Given the description of an element on the screen output the (x, y) to click on. 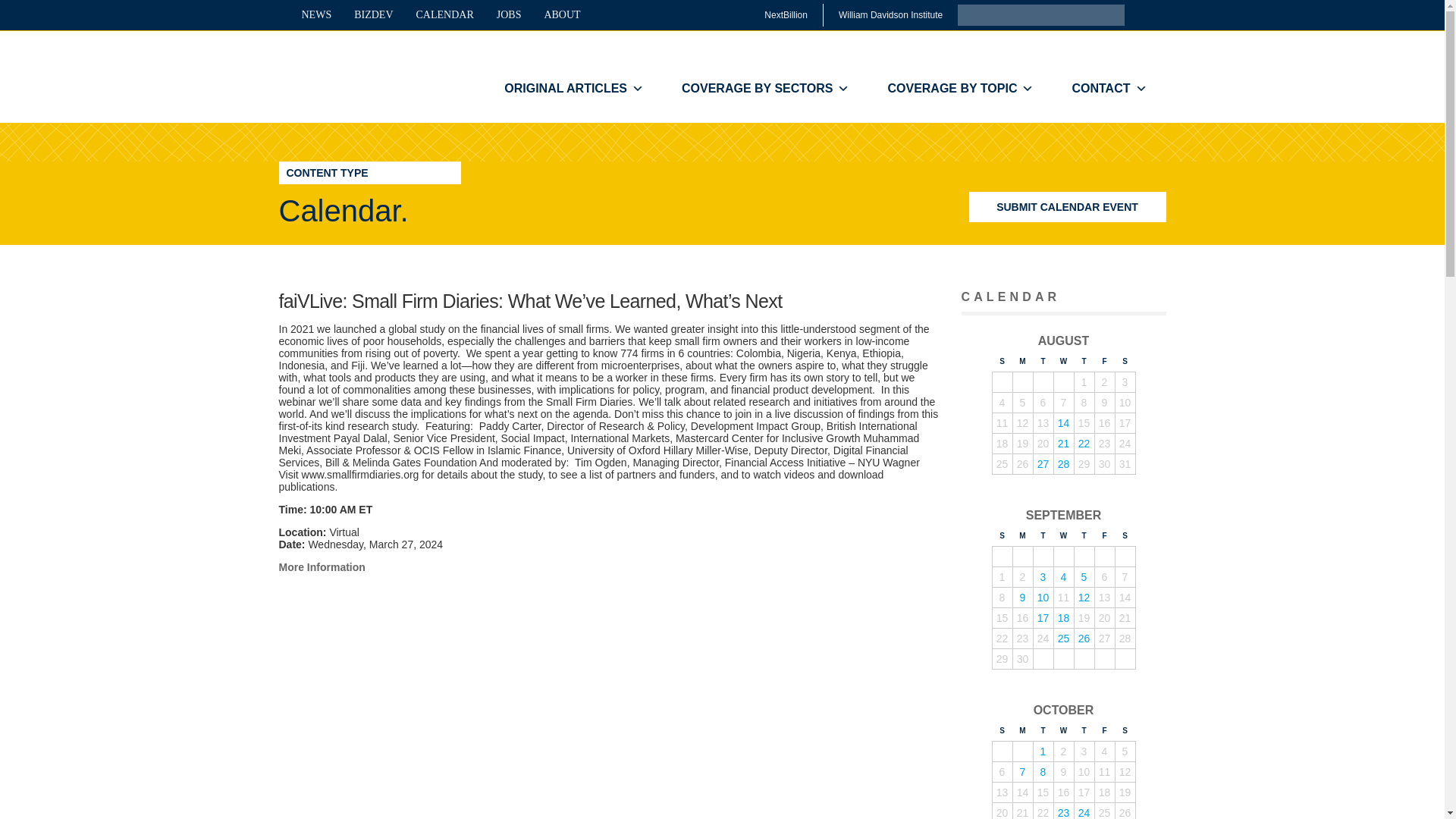
COVERAGE BY SECTORS (764, 88)
ORIGINAL ARTICLES (573, 88)
COVERAGE BY TOPIC (959, 88)
